Given the description of an element on the screen output the (x, y) to click on. 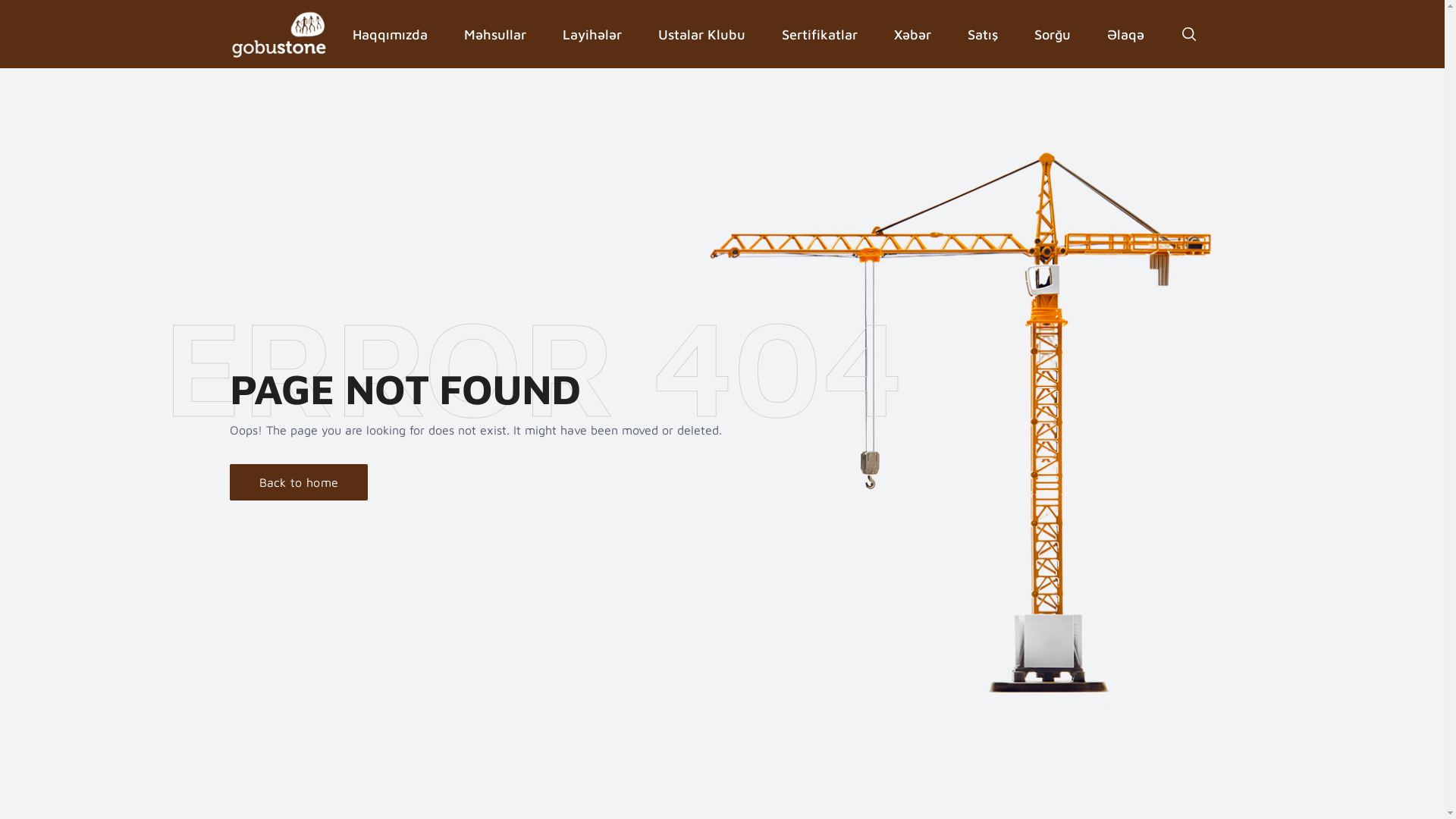
Back to home Element type: text (298, 482)
Sertifikatlar Element type: text (818, 34)
Ustalar Klubu Element type: text (701, 34)
